Given the description of an element on the screen output the (x, y) to click on. 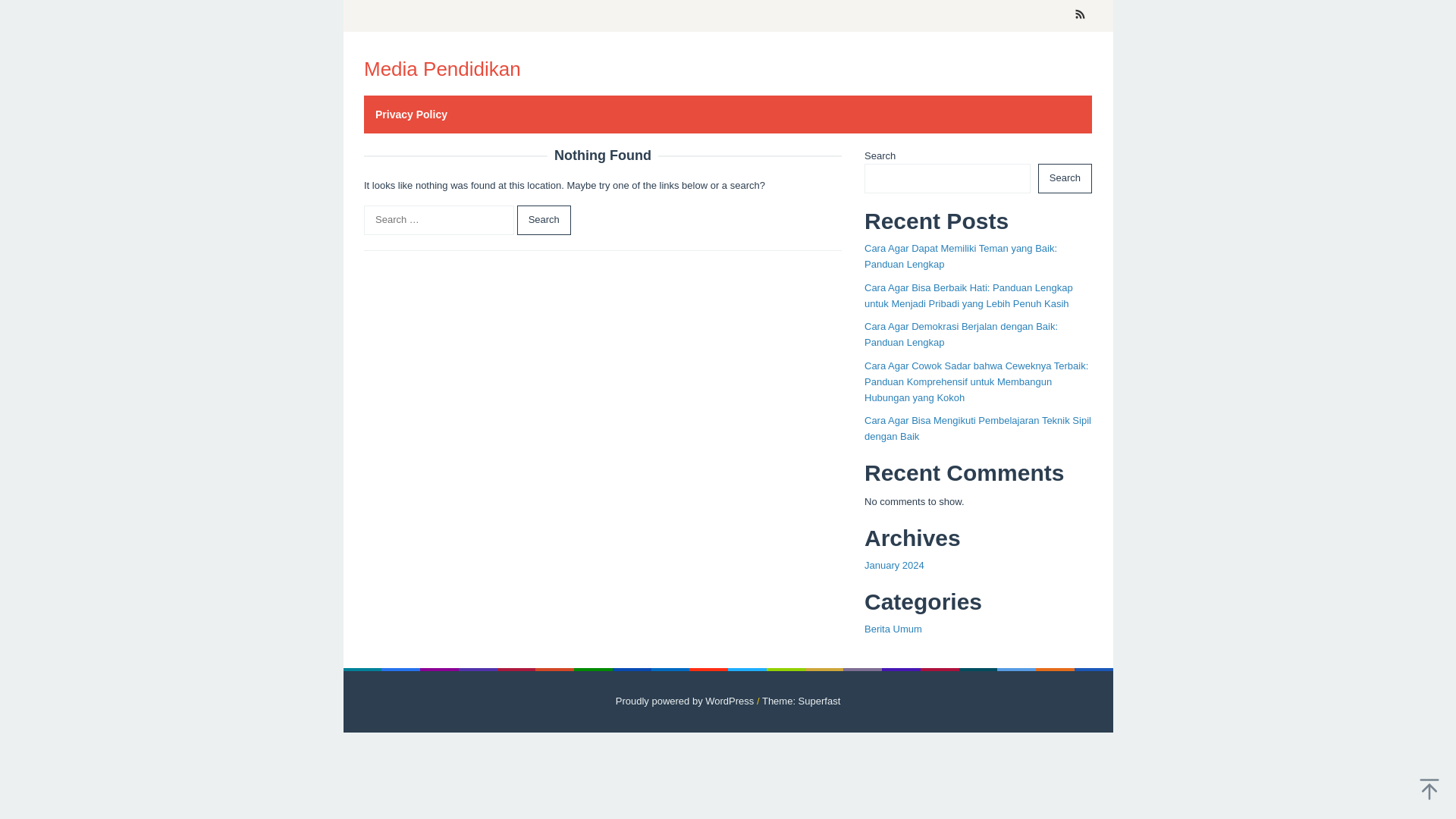
Privacy Policy (411, 114)
Media Pendidikan (442, 68)
Berita Umum (892, 628)
Cara Agar Demokrasi Berjalan dengan Baik: Panduan Lengkap (961, 334)
Search (1065, 178)
Proudly powered by WordPress (684, 700)
Search (543, 220)
Cara Agar Dapat Memiliki Teman yang Baik: Panduan Lengkap (960, 256)
Media Pendidikan (442, 68)
Theme: Superfast (800, 700)
Theme: Superfast (800, 700)
Search (543, 220)
Proudly powered by WordPress (684, 700)
